Given the description of an element on the screen output the (x, y) to click on. 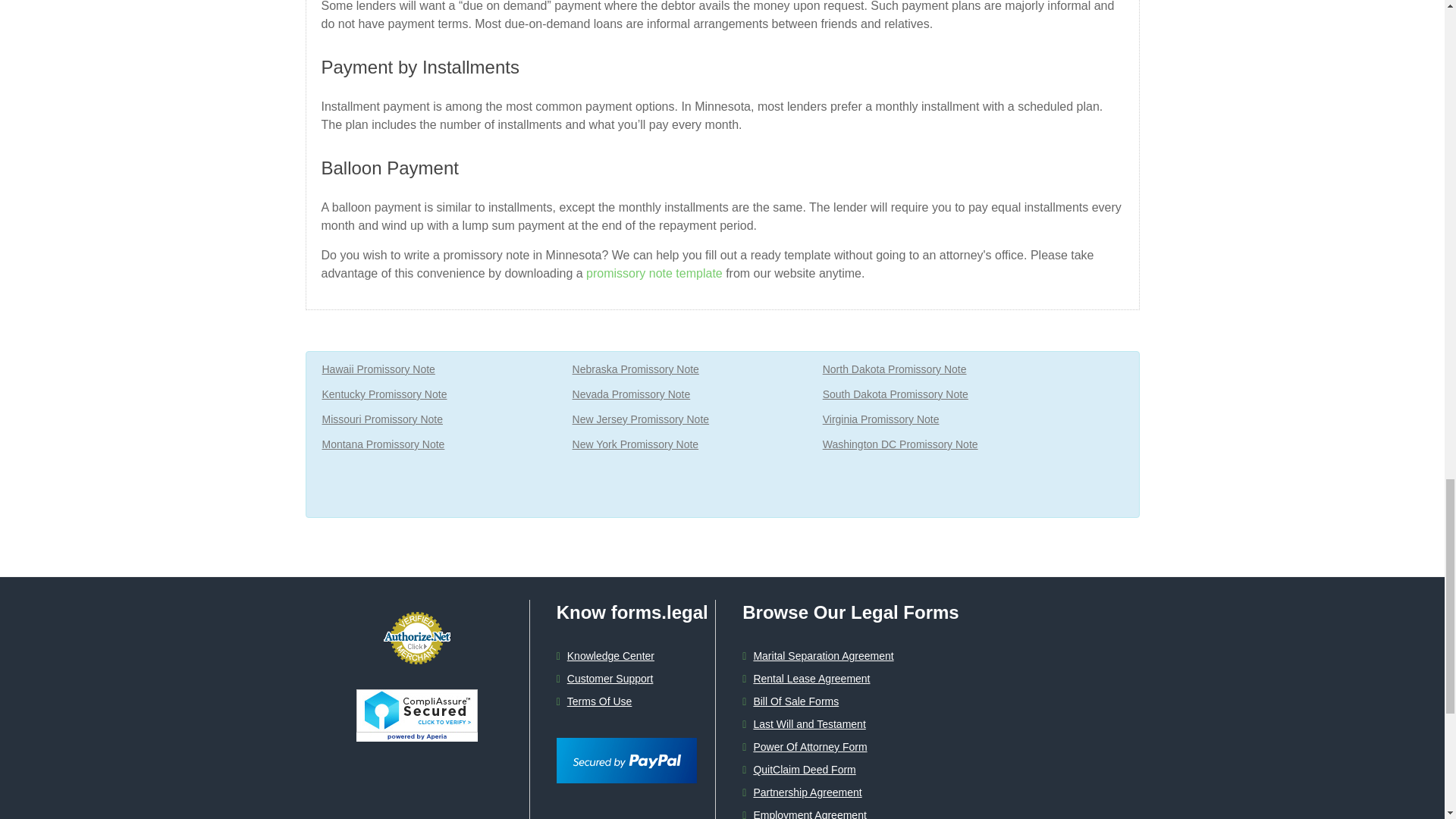
Hawaii Promissory Note (378, 369)
promissory note template (655, 273)
How PayPal Works (626, 745)
Kentucky Promissory Note (384, 394)
